Given the description of an element on the screen output the (x, y) to click on. 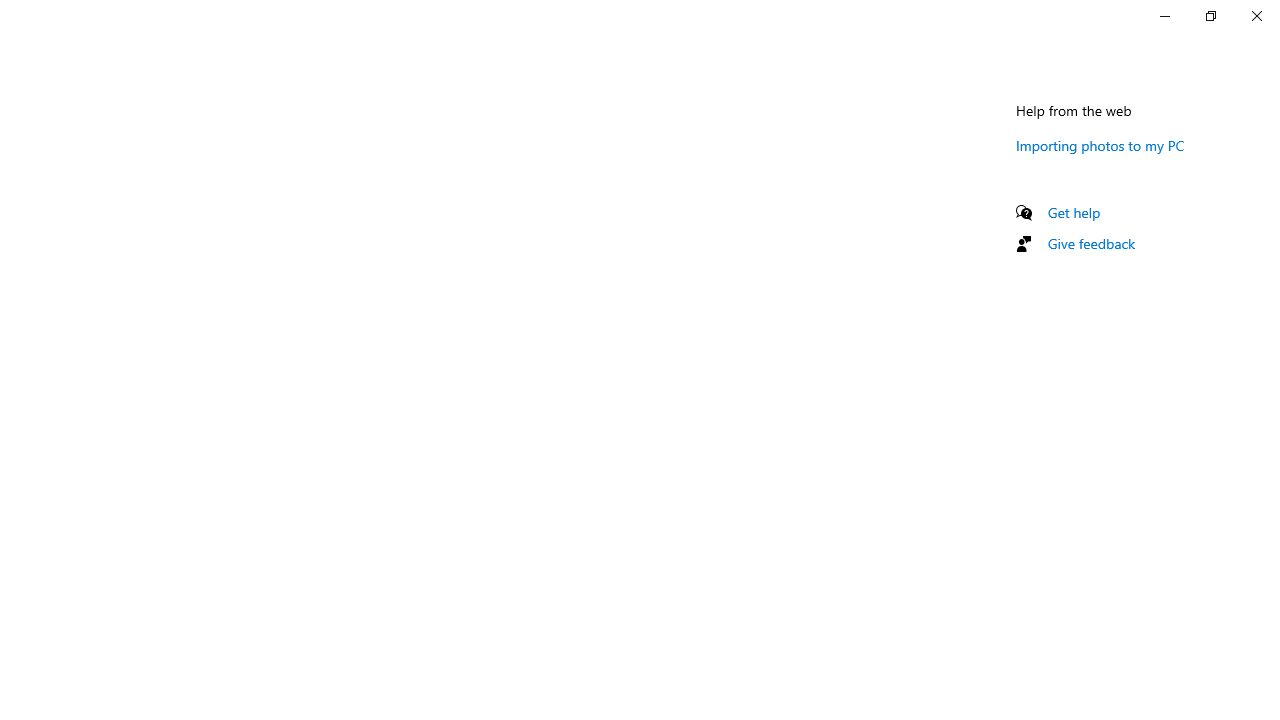
Close Settings (1256, 15)
Importing photos to my PC (1100, 145)
Minimize Settings (1164, 15)
Give feedback (1091, 243)
Restore Settings (1210, 15)
Get help (1074, 212)
